Given the description of an element on the screen output the (x, y) to click on. 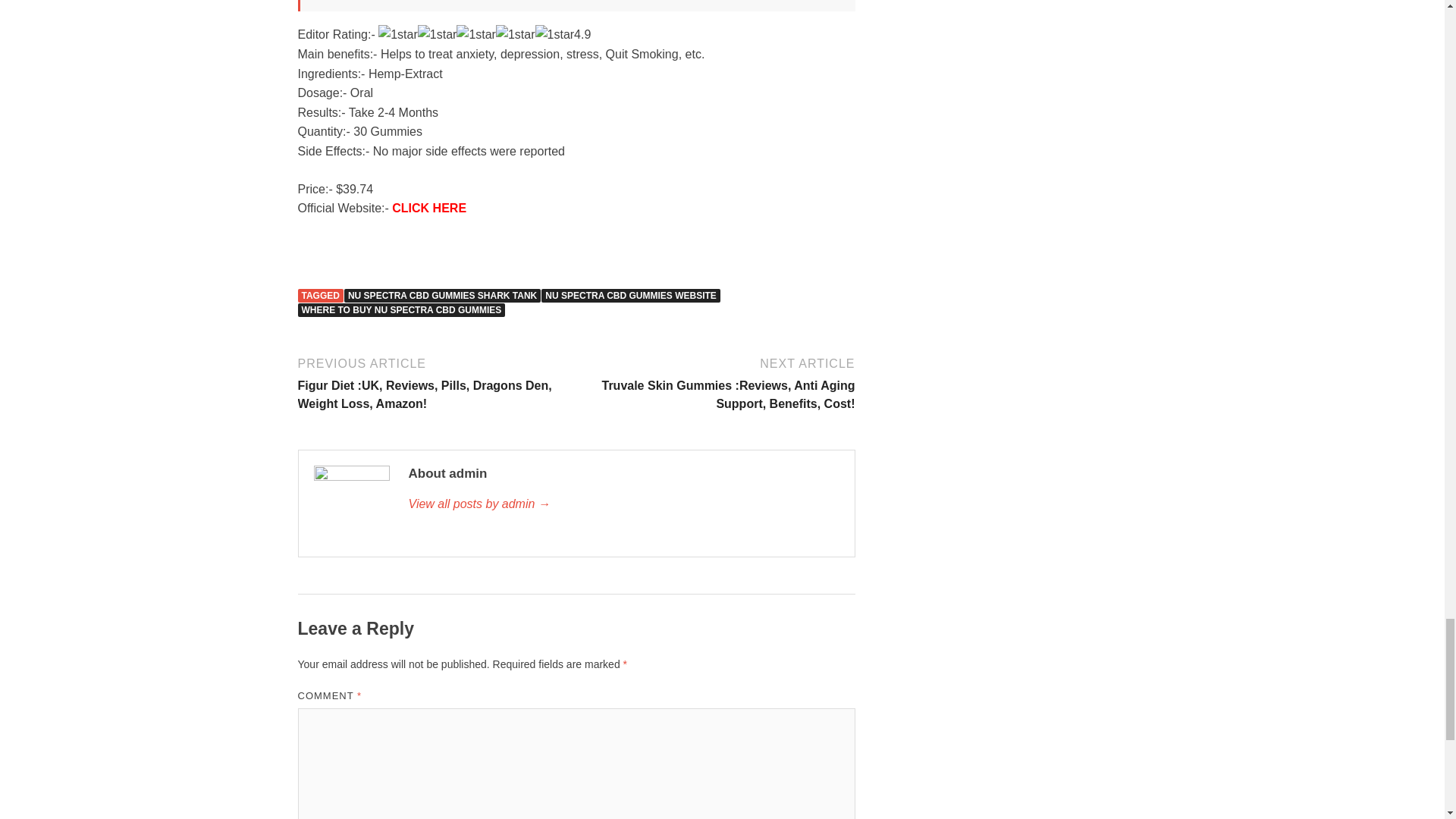
admin (622, 504)
CLICK HERE (428, 207)
NU SPECTRA CBD GUMMIES SHARK TANK (441, 295)
WHERE TO BUY NU SPECTRA CBD GUMMIES (401, 309)
NU SPECTRA CBD GUMMIES WEBSITE (630, 295)
